Given the description of an element on the screen output the (x, y) to click on. 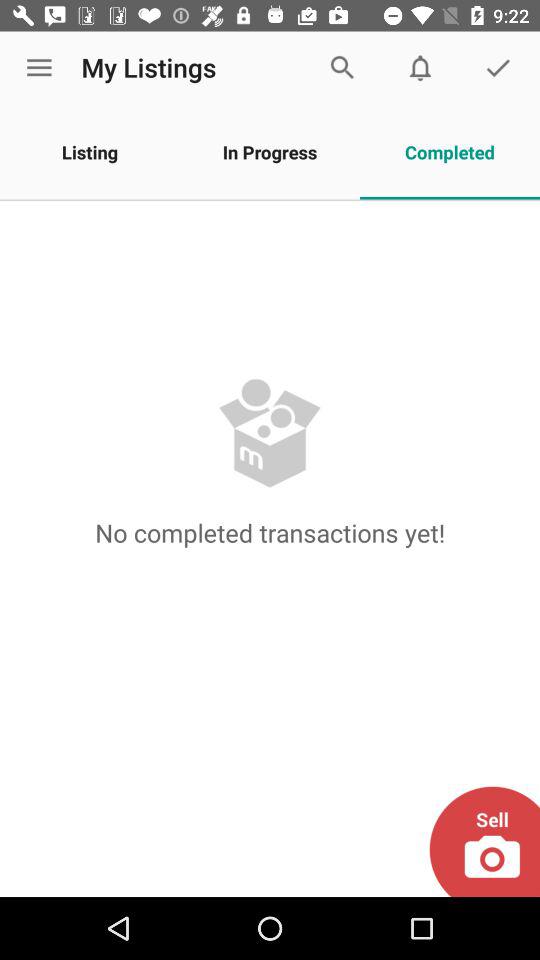
click the icon above the listing icon (39, 67)
